Given the description of an element on the screen output the (x, y) to click on. 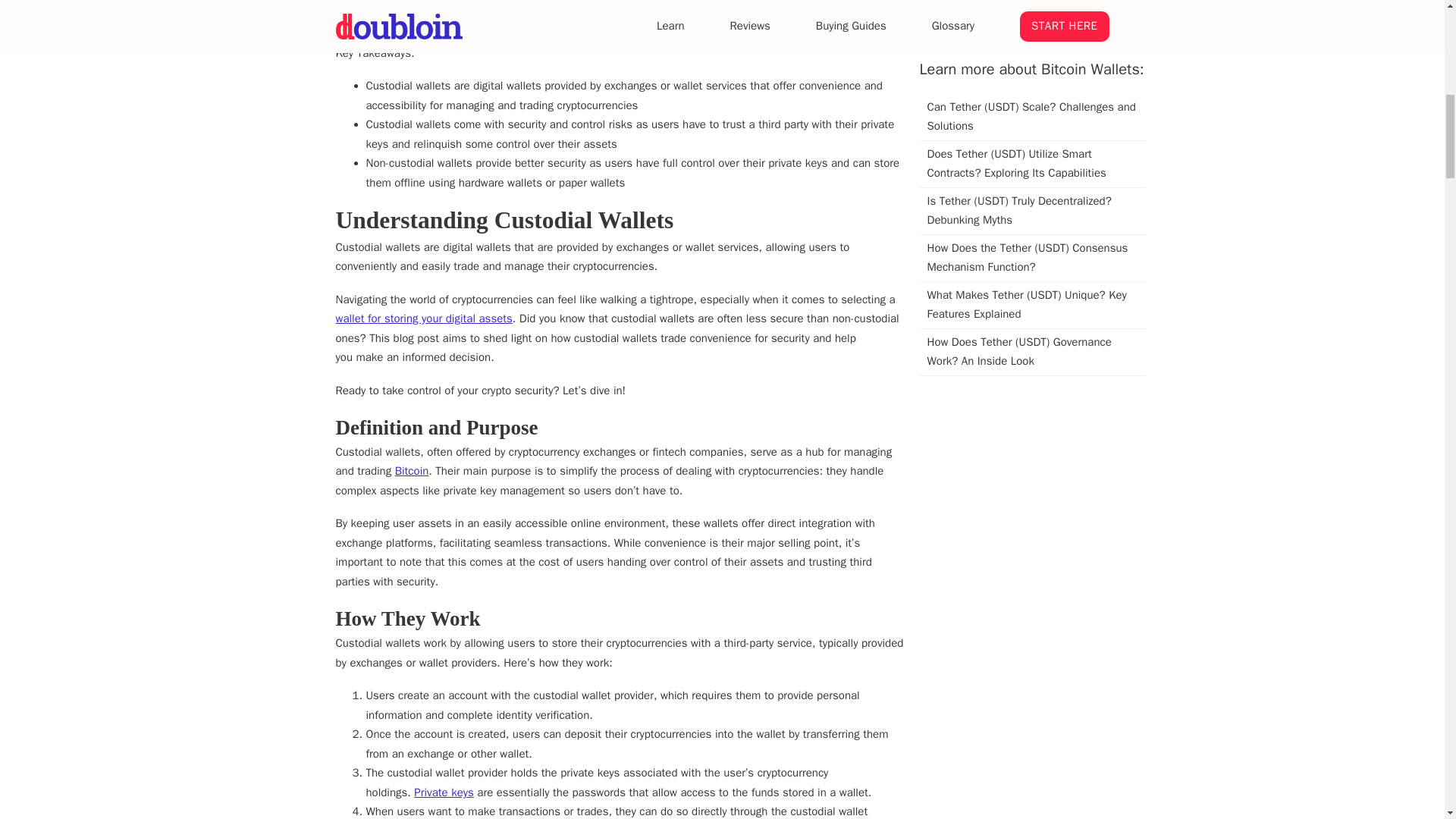
Private keys (443, 792)
wallet for storing your digital assets (423, 318)
Bitcoin (411, 470)
